Given the description of an element on the screen output the (x, y) to click on. 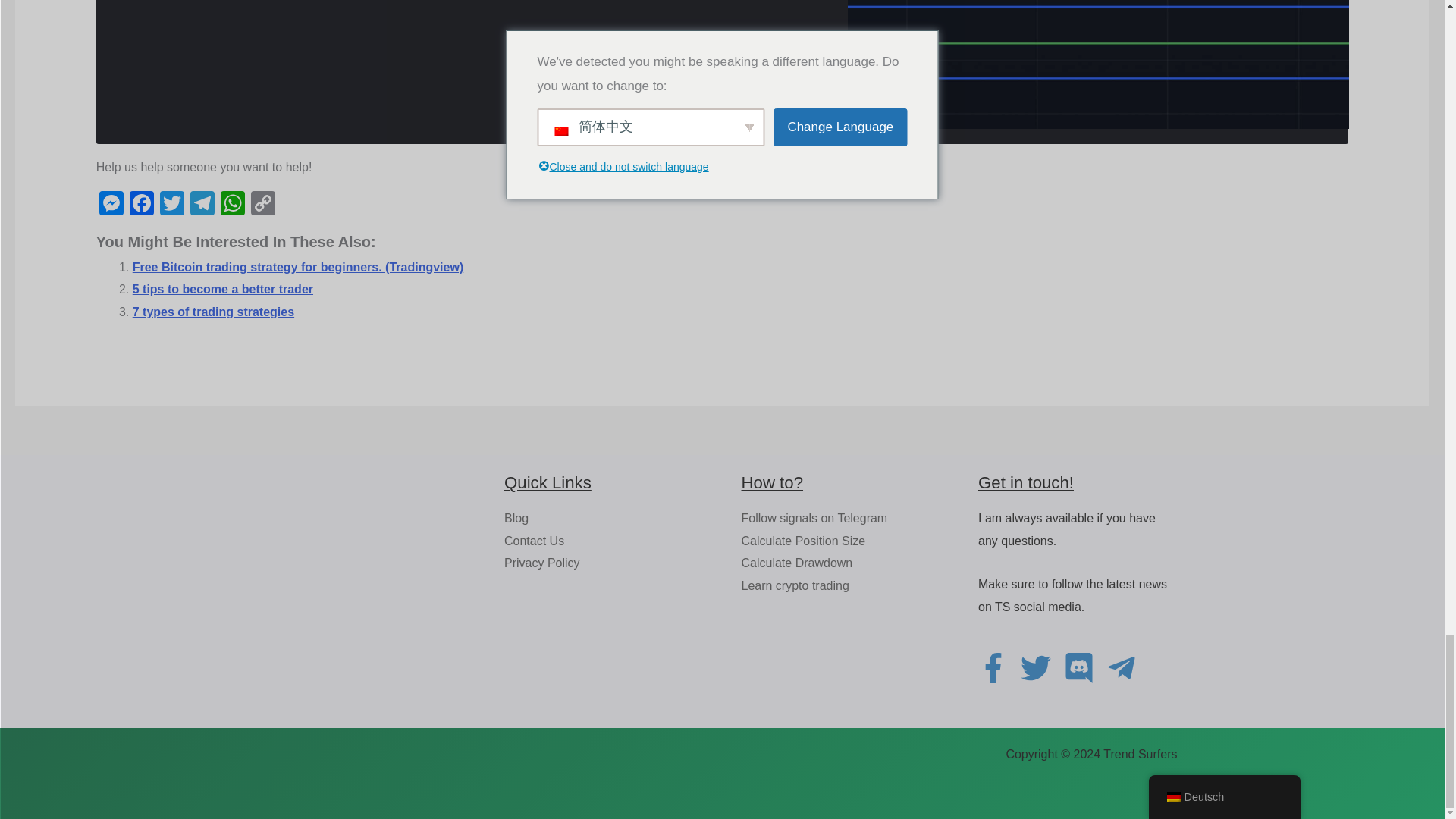
WhatsApp (231, 204)
Telegram (201, 204)
Twitter (172, 204)
Untitled Design - Trend Surfers (1098, 64)
Messenger (111, 204)
Facebook (141, 204)
